Given the description of an element on the screen output the (x, y) to click on. 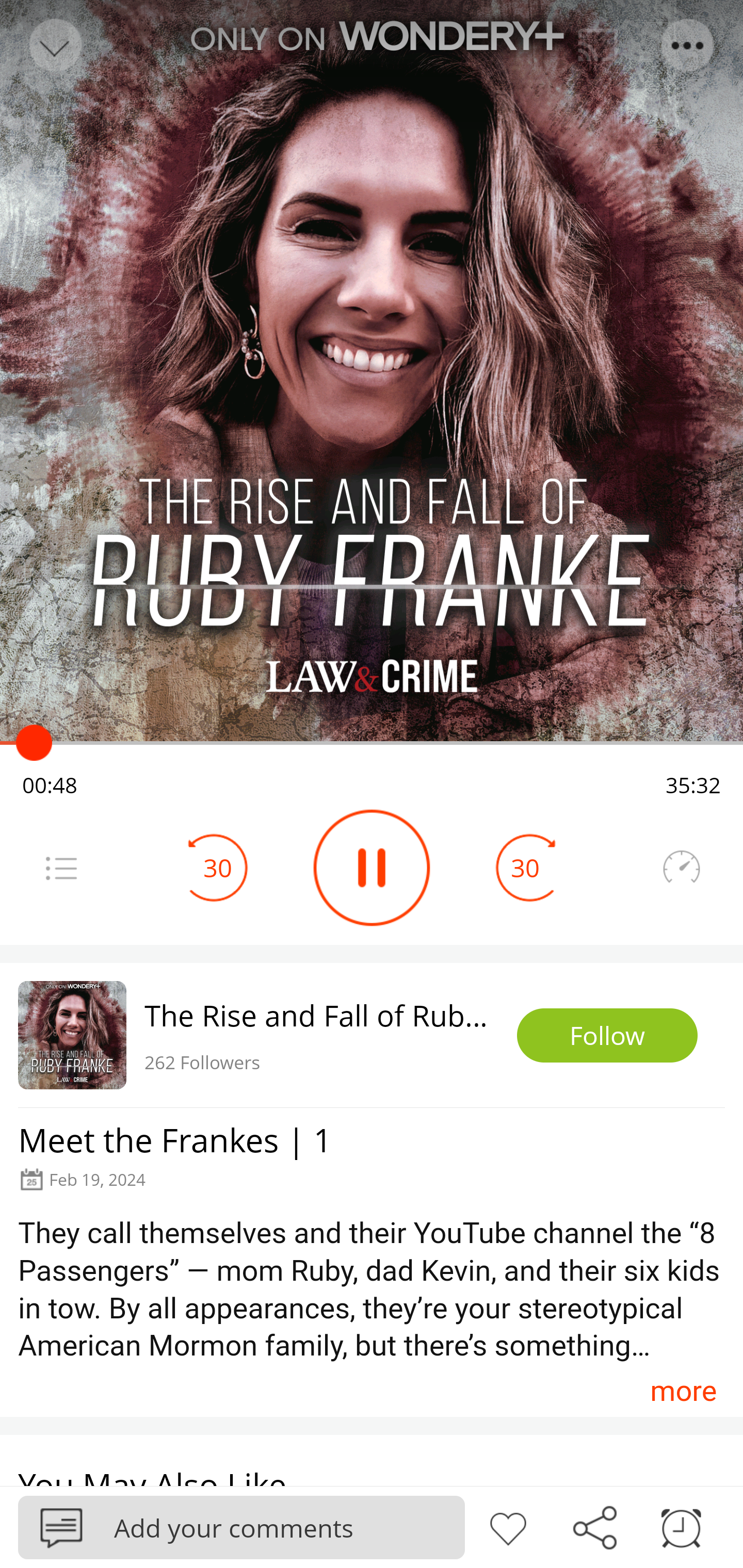
Back (53, 45)
Cast. Disconnected (597, 45)
Menu (688, 45)
Play (371, 867)
30 Seek Backward (217, 867)
30 Seek Forward (525, 867)
Menu (60, 867)
Speedometer (681, 867)
Follow (607, 1035)
more (682, 1390)
Like (508, 1526)
Share (594, 1526)
Sleep timer (681, 1526)
Podbean Add your comments (241, 1526)
